Given the description of an element on the screen output the (x, y) to click on. 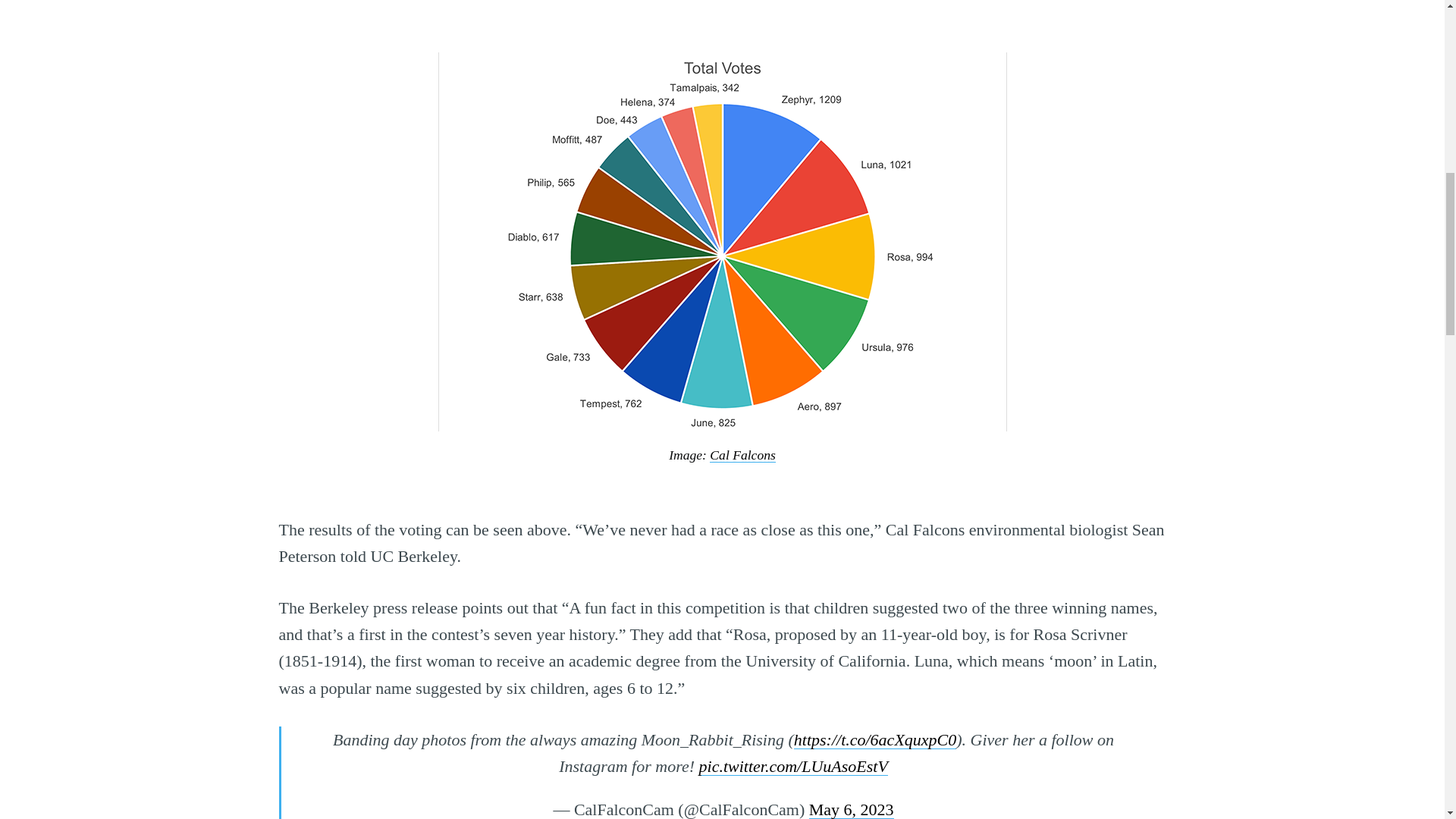
Cal Falcons (743, 454)
May 6, 2023 (851, 809)
